Given the description of an element on the screen output the (x, y) to click on. 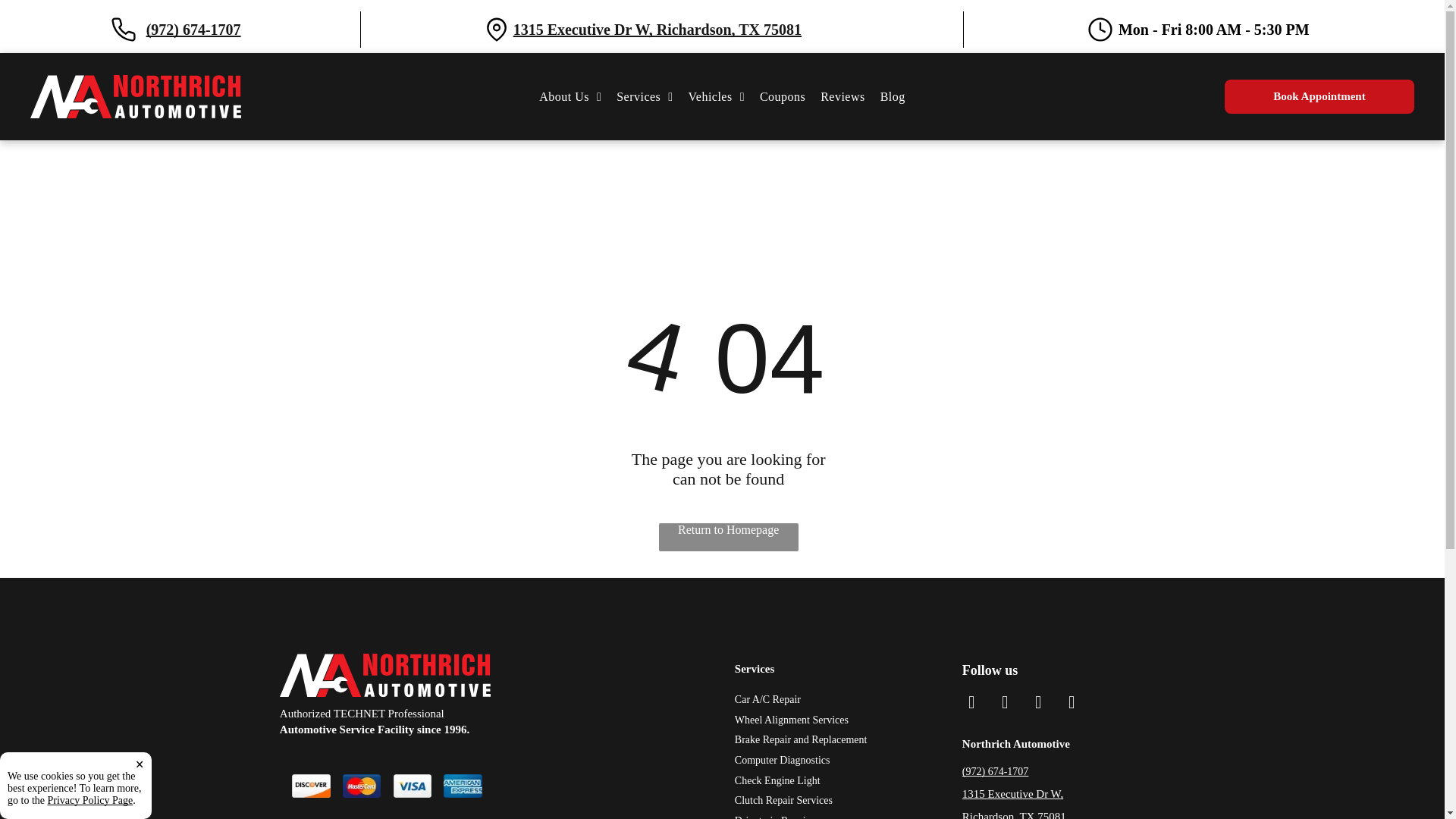
About Us (569, 96)
1315 Executive Dr W, Richardson, TX 75081 (657, 29)
Go to Homepage (135, 81)
Services (643, 96)
Vehicles (643, 96)
1315 Executive Dr W, Richardson, TX 75081 (716, 96)
Visit Page (657, 29)
